Given the description of an element on the screen output the (x, y) to click on. 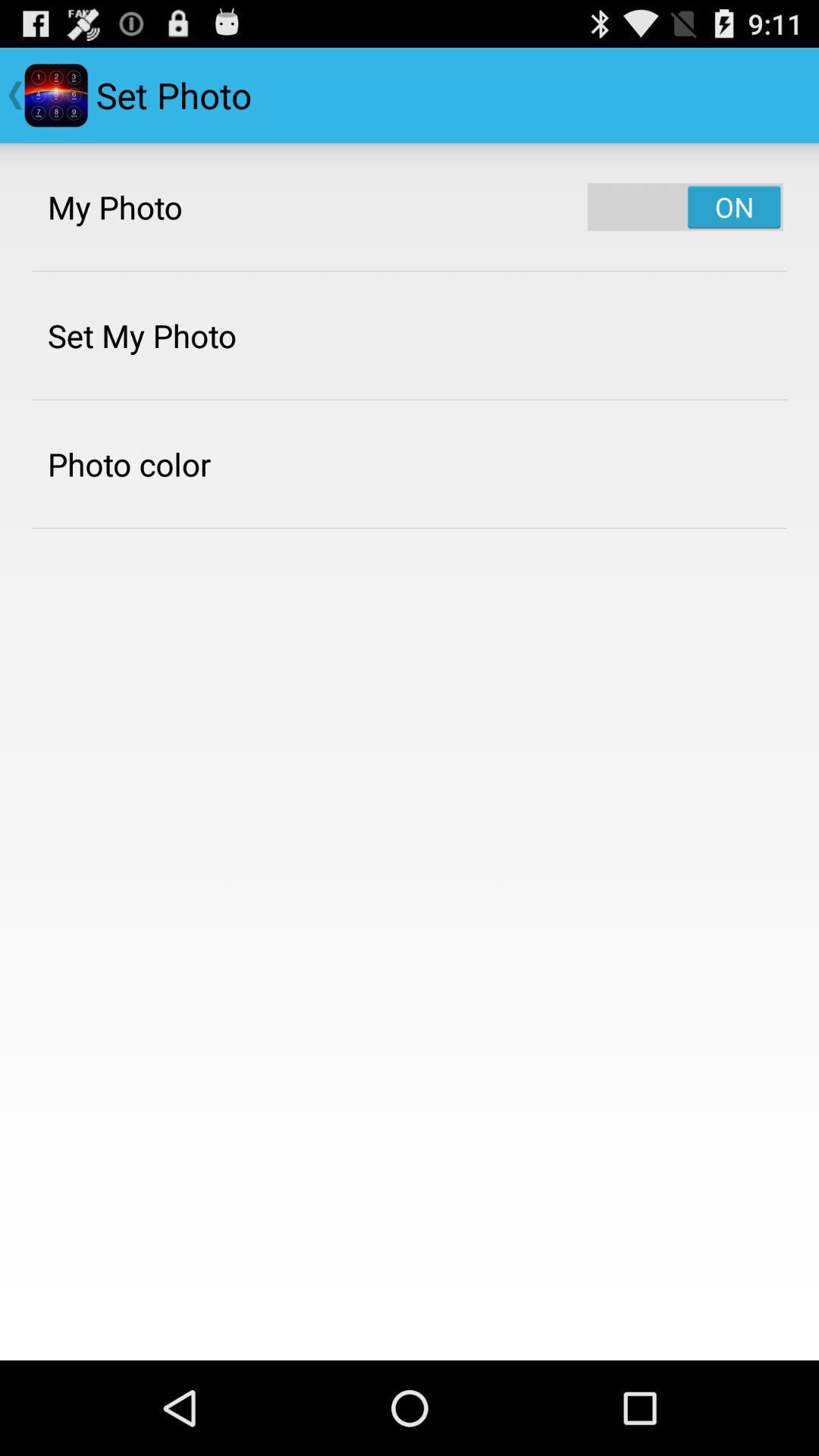
turn on item at the top right corner (685, 206)
